Given the description of an element on the screen output the (x, y) to click on. 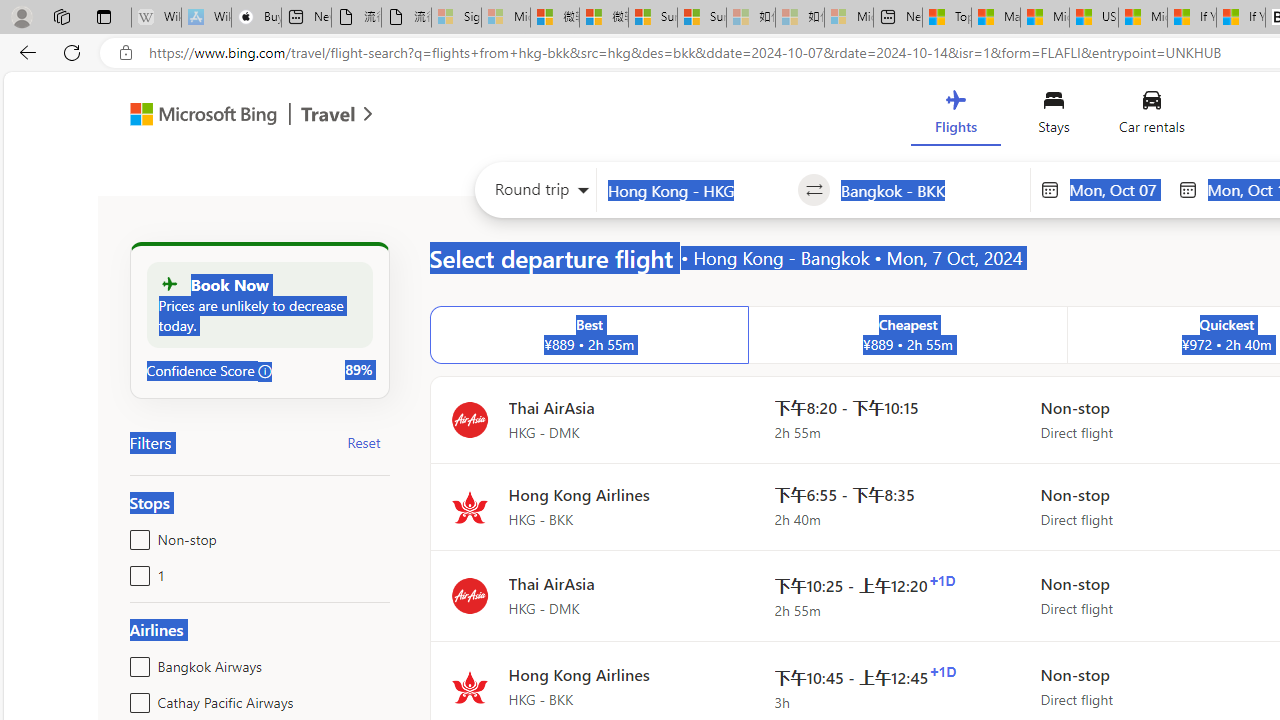
Non-stop (136, 535)
